Given the description of an element on the screen output the (x, y) to click on. 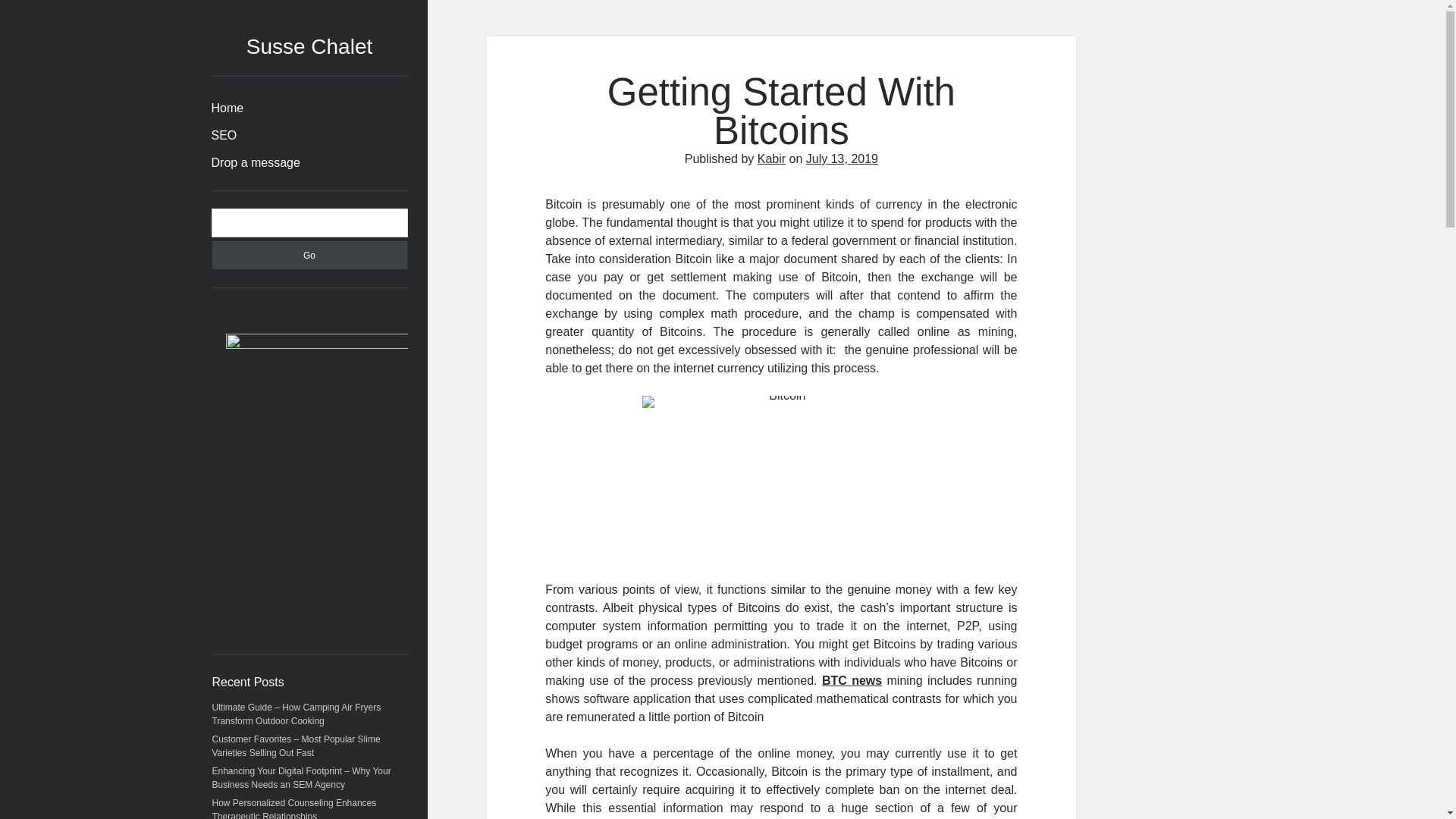
Go (309, 254)
Go (309, 254)
Go (309, 254)
Search for: (309, 222)
Drop a message (255, 162)
SEO (223, 135)
Home (227, 108)
Susse Chalet (309, 46)
